Given the description of an element on the screen output the (x, y) to click on. 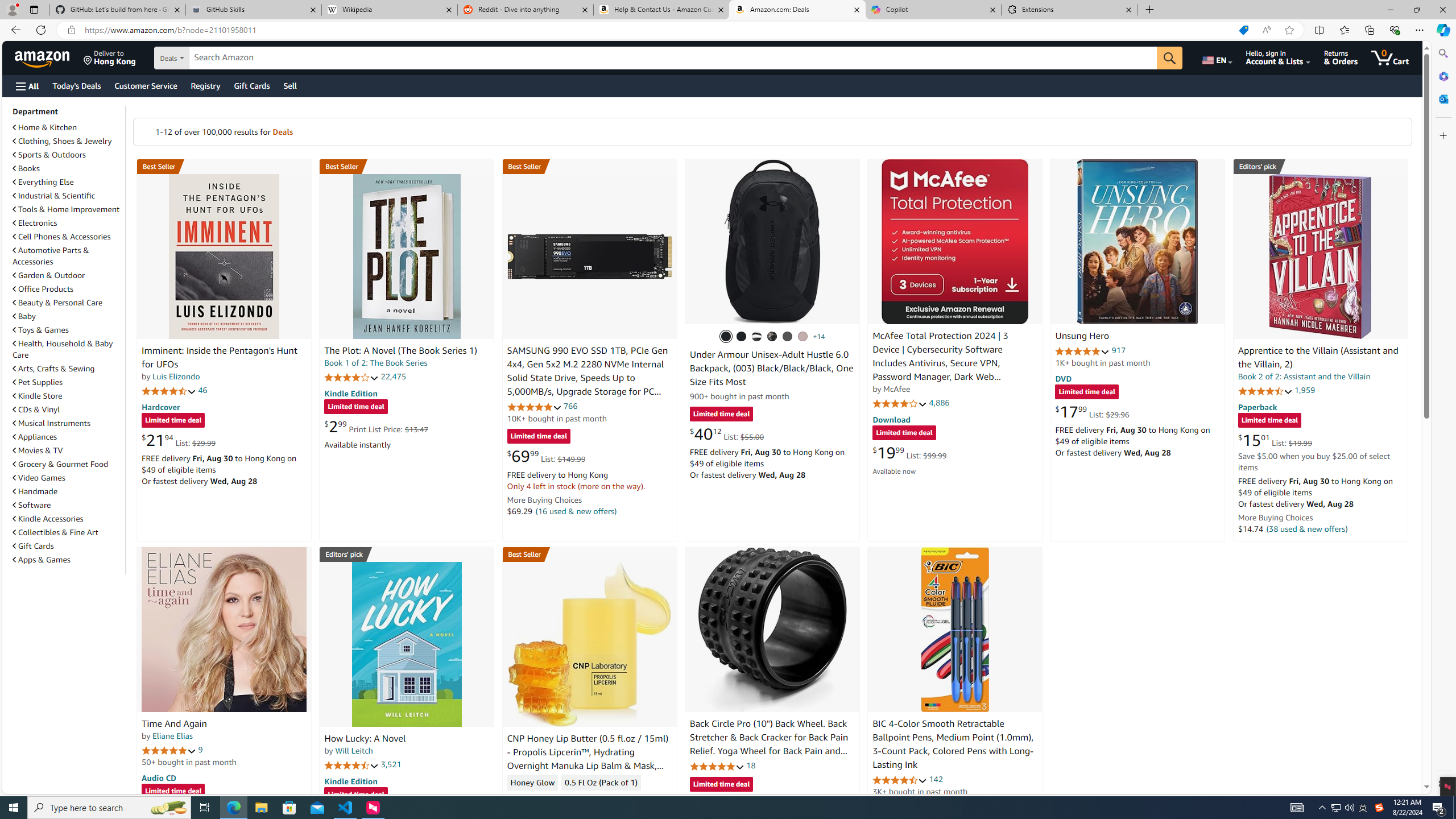
Settings (1442, 783)
Movies & TV (37, 450)
9 (200, 749)
Paperback (1256, 406)
Gift Cards (33, 545)
Tab actions menu (33, 9)
The Plot: A Novel (The Book Series 1) (406, 256)
(38 used & new offers) (1307, 528)
Movies & TV (67, 450)
Imminent: Inside the Pentagon's Hunt for UFOs (219, 358)
$19.99 List: $99.99 (909, 452)
Sell (290, 85)
Electronics (34, 222)
